Given the description of an element on the screen output the (x, y) to click on. 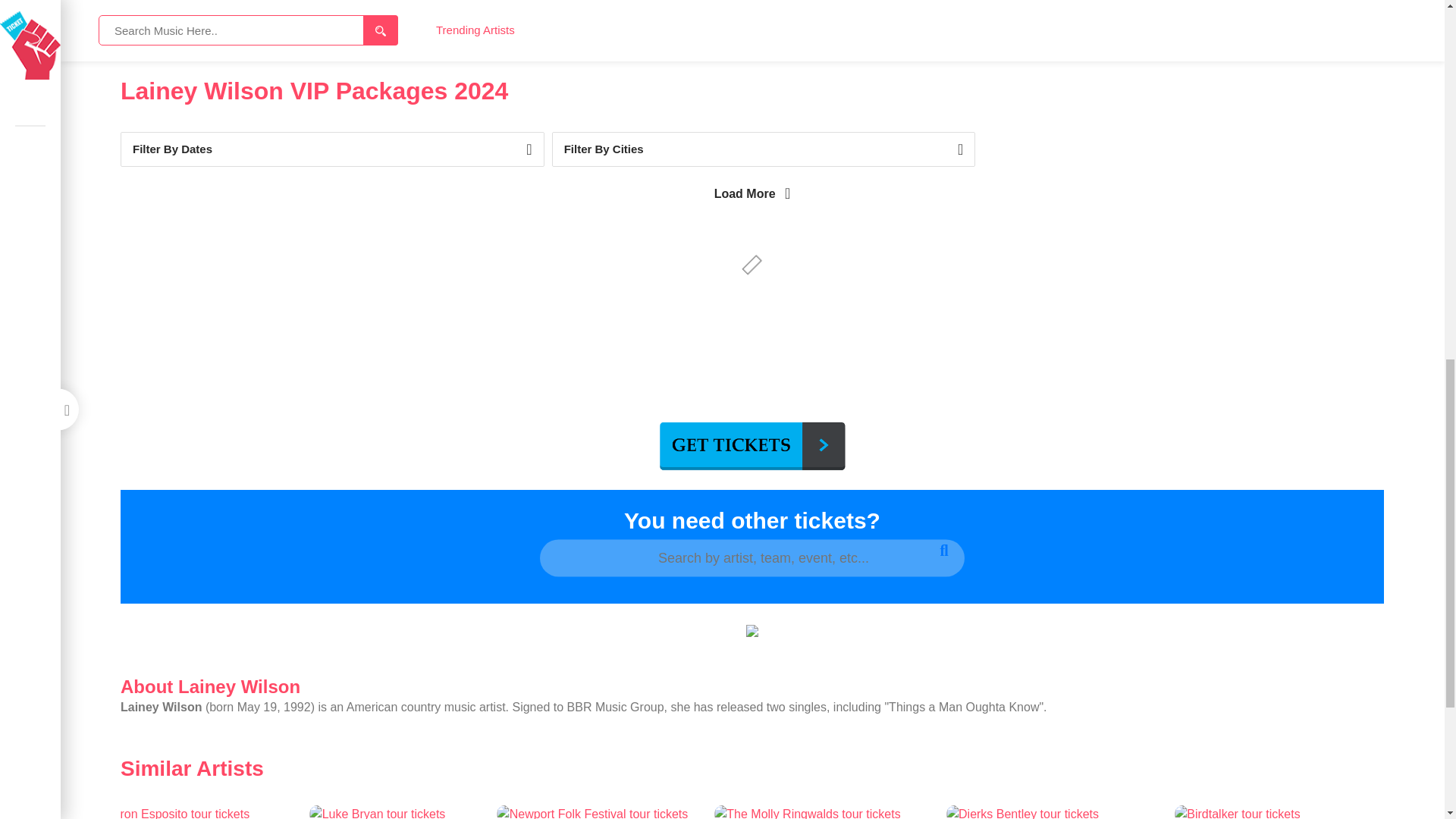
Load More (752, 192)
Cities (763, 149)
Dates (332, 149)
You need other tickets? (751, 519)
